Given the description of an element on the screen output the (x, y) to click on. 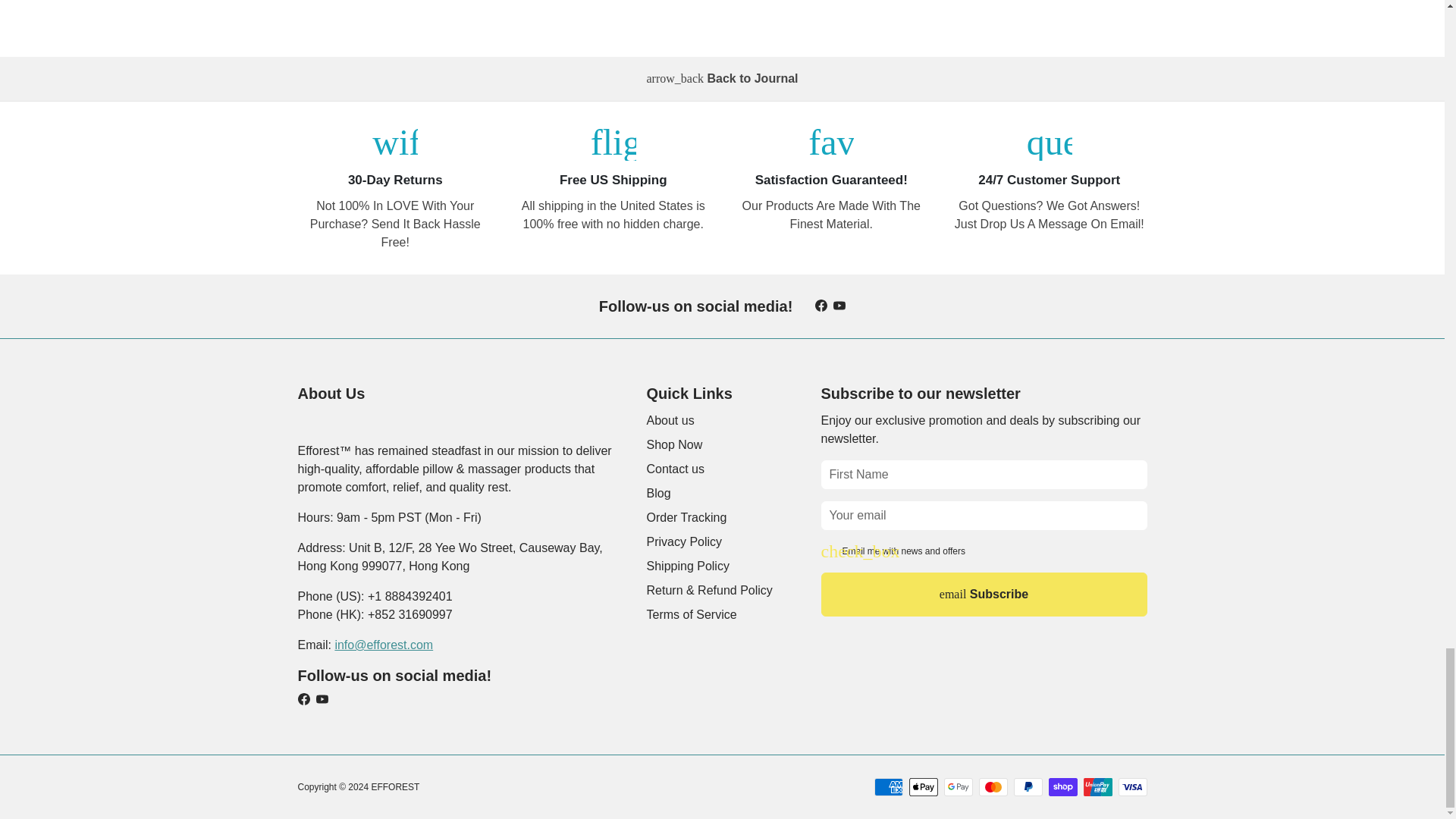
Union Pay (1097, 787)
Visa (1132, 787)
Google Pay (957, 787)
Mastercard (992, 787)
Shop Pay (1062, 787)
American Express (887, 787)
EFFOREST on Facebook (821, 305)
Apple Pay (922, 787)
PayPal (1027, 787)
